Given the description of an element on the screen output the (x, y) to click on. 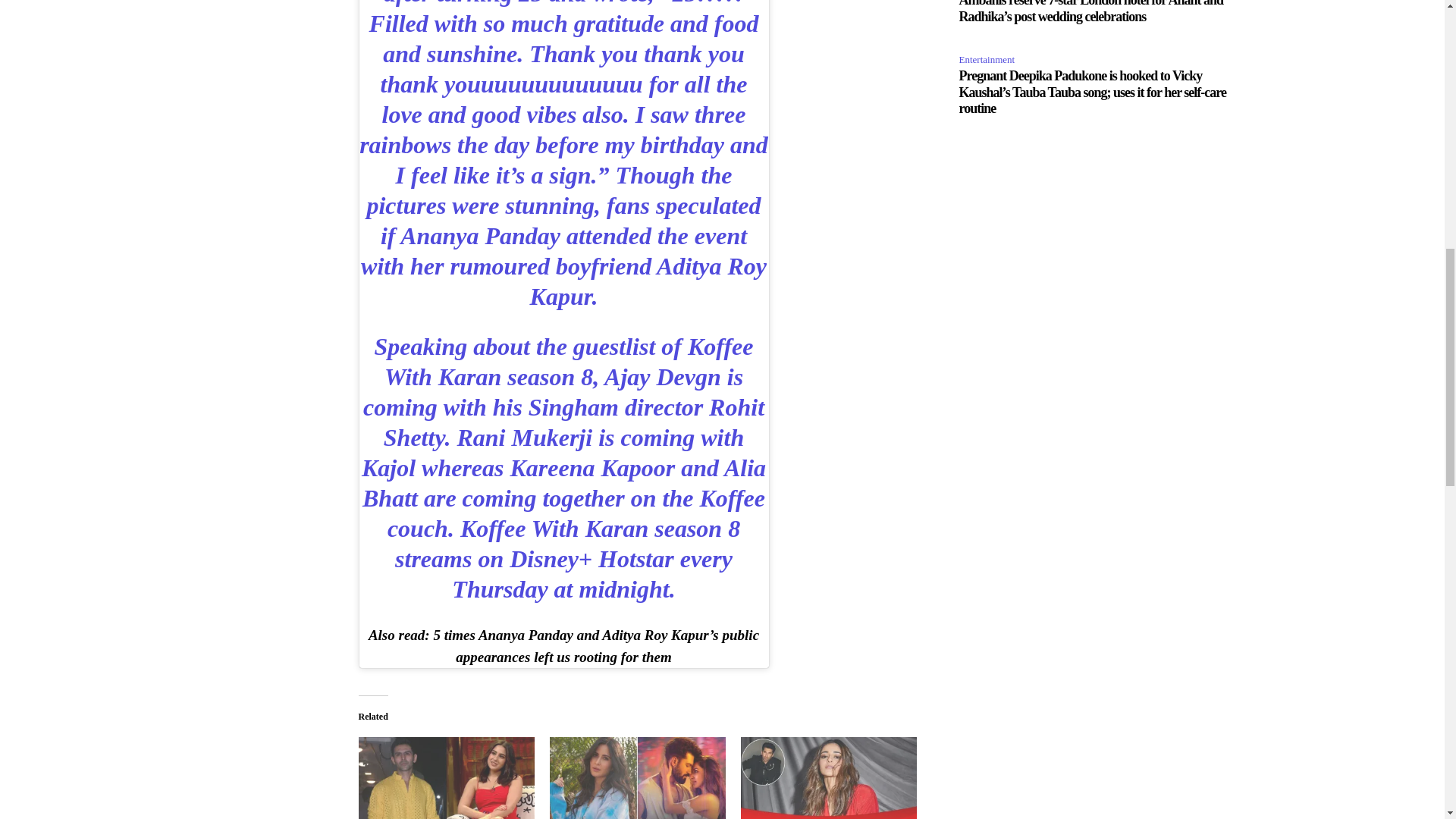
Entertainment (988, 59)
